Given the description of an element on the screen output the (x, y) to click on. 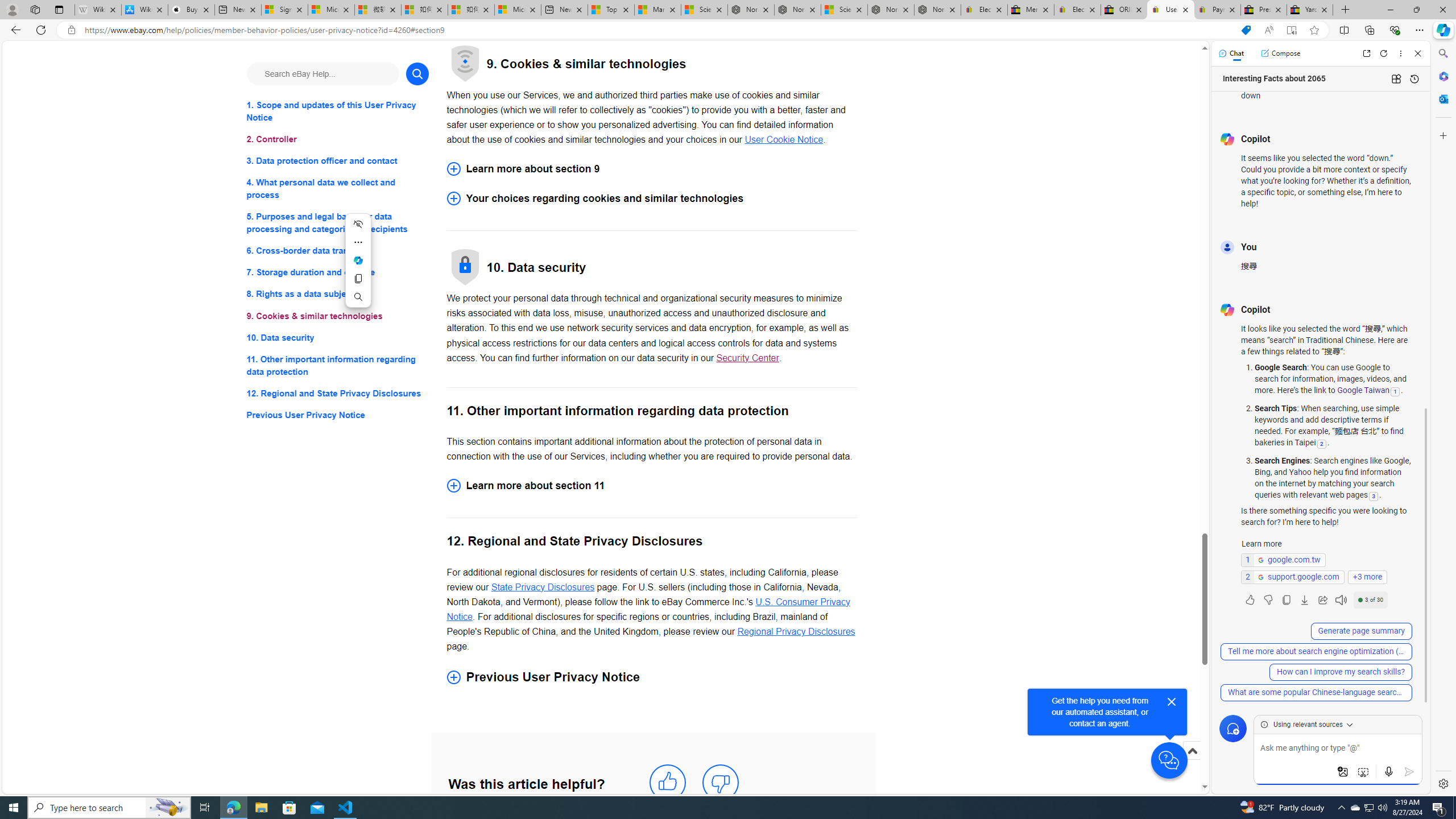
Payments Terms of Use | eBay.com (1216, 9)
6. Cross-border data transfers (337, 250)
This site has coupons! Shopping in Microsoft Edge (1245, 29)
Copy (358, 278)
Top Stories - MSN (610, 9)
10. Data security (337, 336)
